Given the description of an element on the screen output the (x, y) to click on. 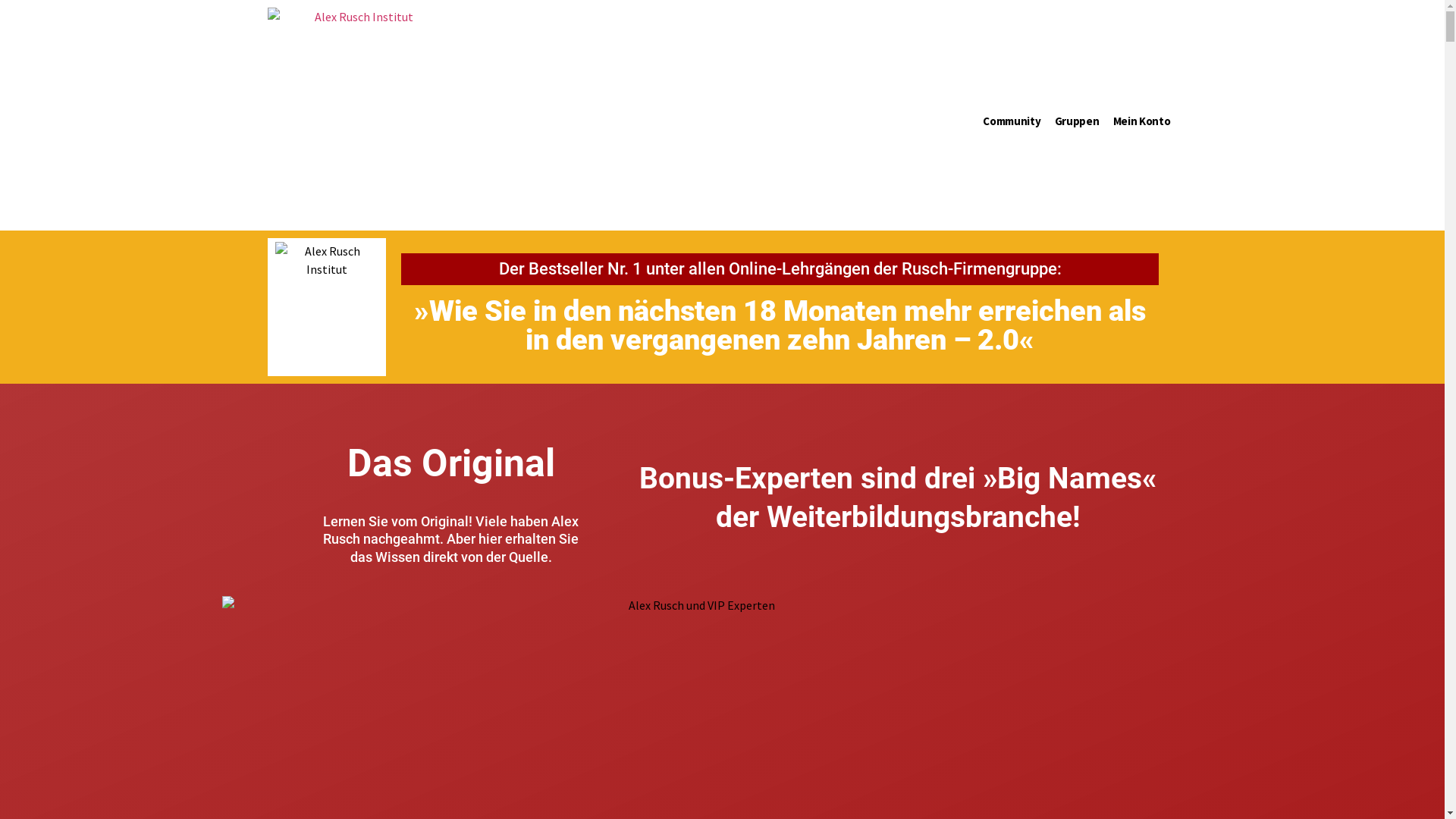
Community Element type: text (1011, 120)
Gruppen Element type: text (1077, 120)
Mein Konto Element type: text (1140, 120)
